Given the description of an element on the screen output the (x, y) to click on. 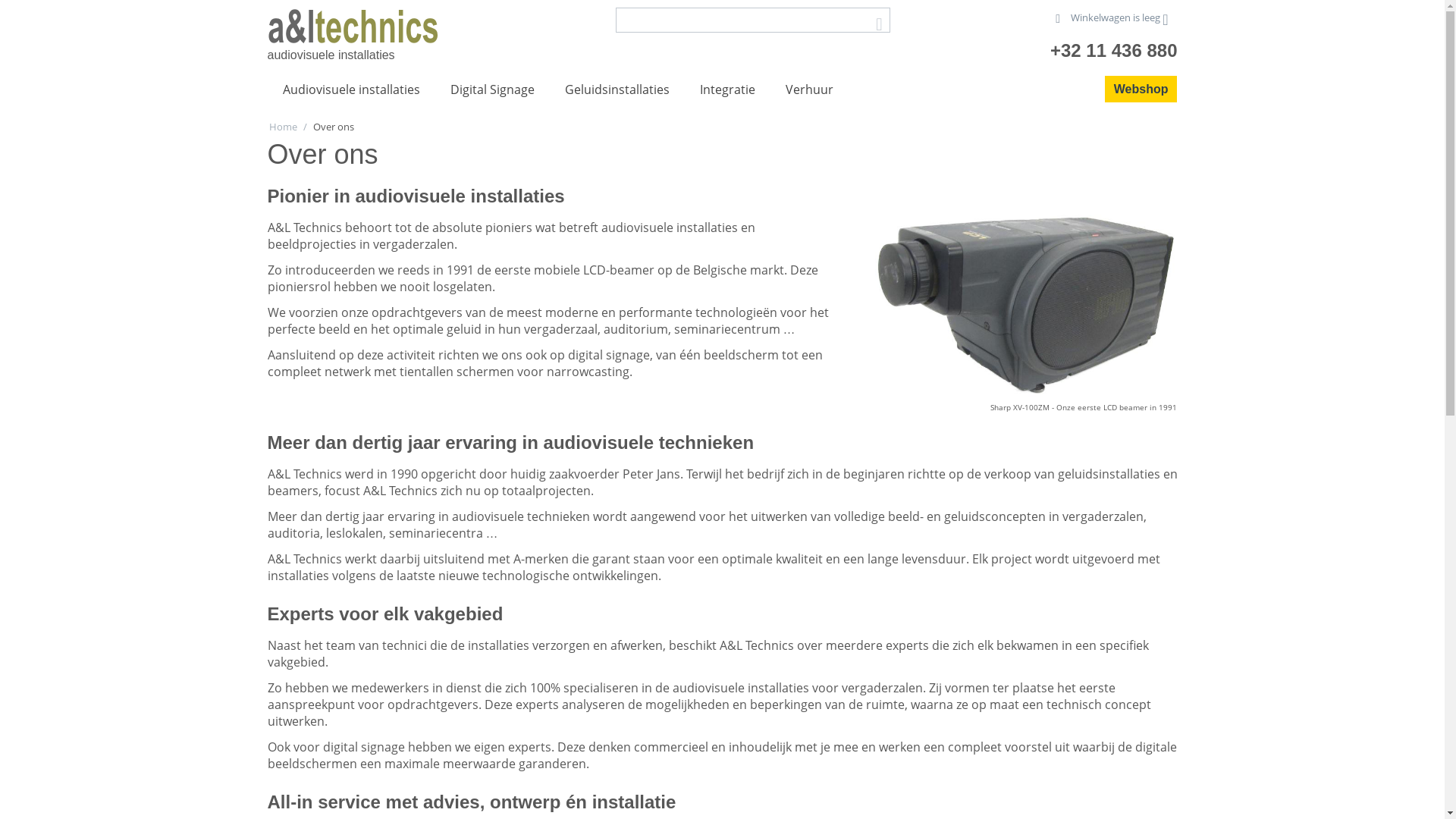
Zoek producten Element type: hover (752, 19)
audiovisuele installaties Element type: hover (351, 26)
Webshop Element type: text (1140, 88)
Winkelwagen is leeg Element type: text (1111, 17)
Zoeken Element type: hover (878, 21)
Geluidsinstallaties Element type: text (616, 90)
Integratie Element type: text (726, 90)
Verhuur Element type: text (809, 90)
Home Element type: text (282, 126)
Audiovisuele installaties Element type: text (350, 90)
Digital Signage Element type: text (492, 90)
